Given the description of an element on the screen output the (x, y) to click on. 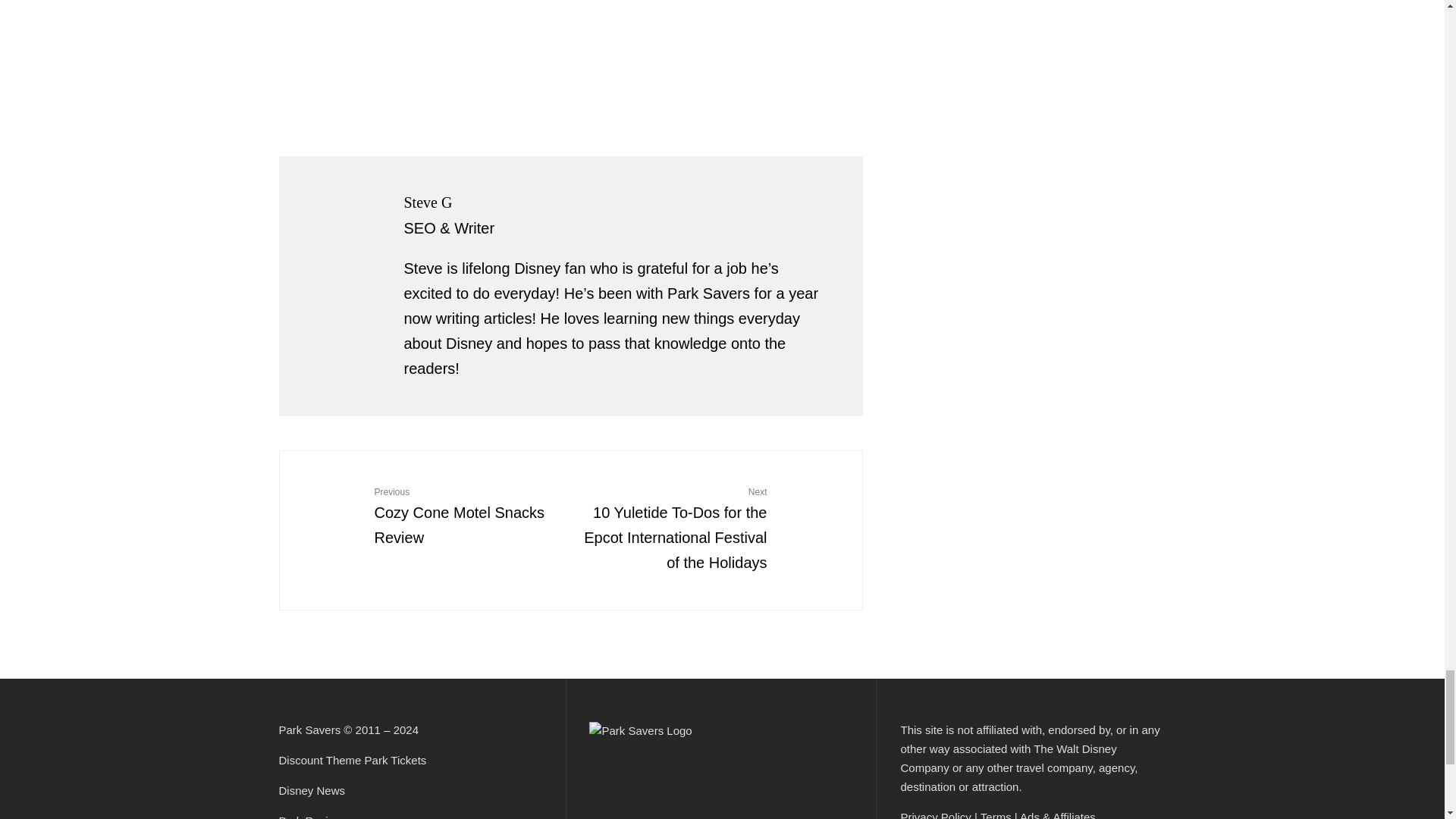
Cozy Cone Motel Snacks Review 9 (333, 504)
